Given the description of an element on the screen output the (x, y) to click on. 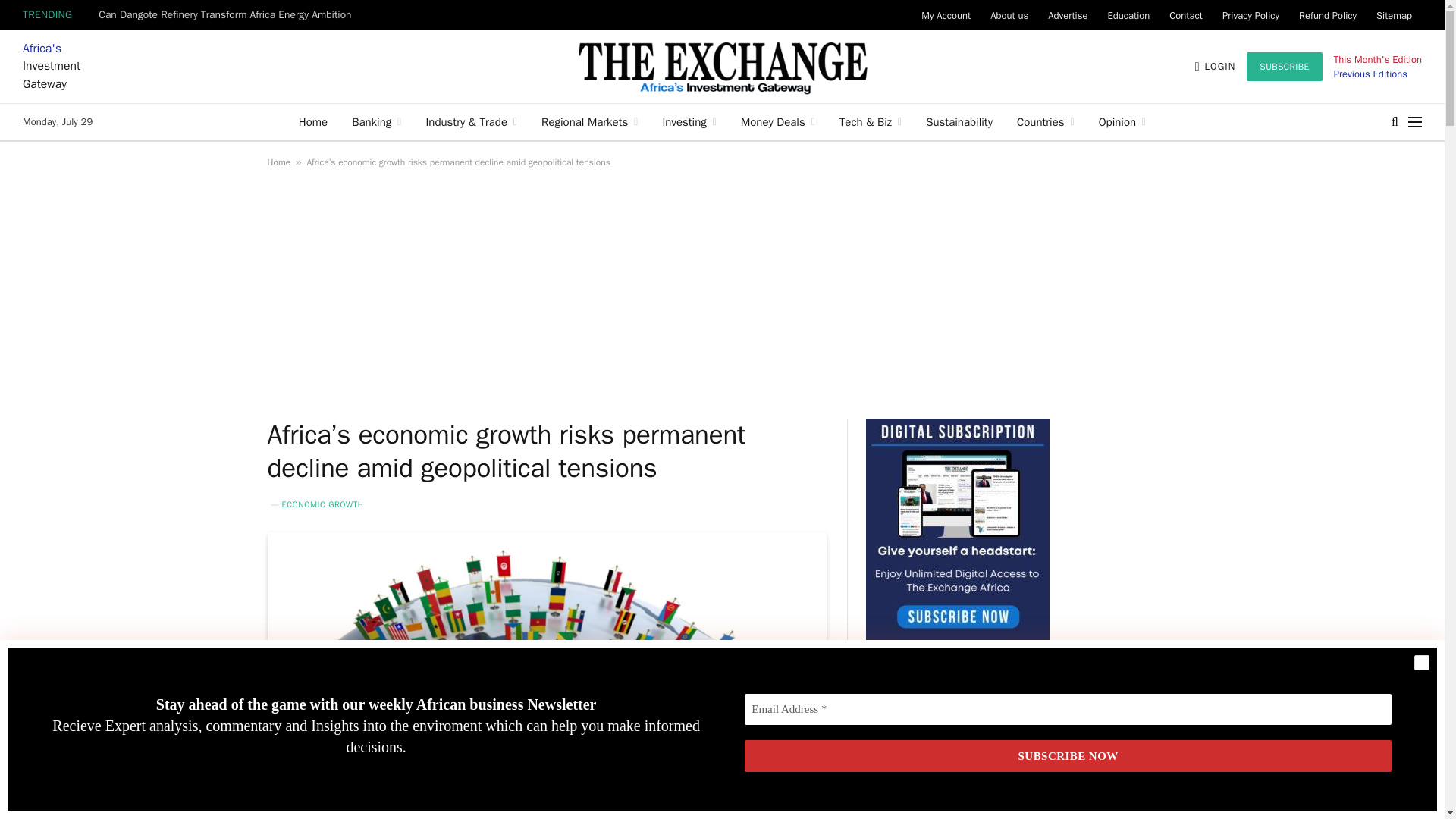
About us (1008, 15)
This Months Editions (1370, 73)
SUBSCRIBE NOW (1067, 756)
LOGIN (1215, 66)
The Exchange (721, 66)
Refund Policy (1327, 15)
SUBSCRIBE (1284, 66)
Education (1127, 15)
Can Dangote Refinery Transform Africa Energy Ambition (228, 15)
This Months Edition (1377, 59)
Contact (1185, 15)
Advertise (1067, 15)
My Account (945, 15)
Sitemap (1394, 15)
Privacy Policy (1250, 15)
